Given the description of an element on the screen output the (x, y) to click on. 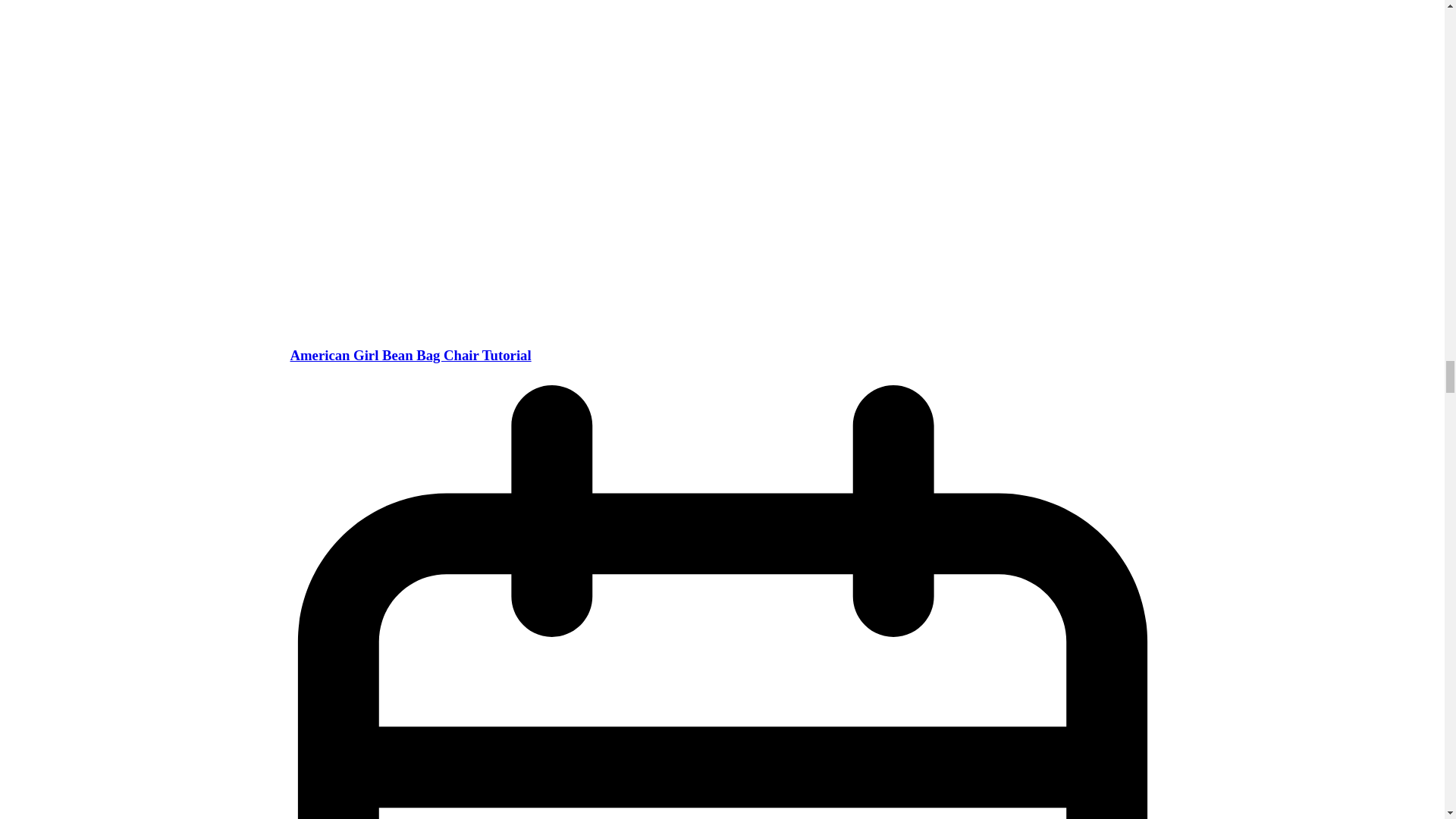
American Girl Bean Bag Chair Tutorial (410, 355)
